Given the description of an element on the screen output the (x, y) to click on. 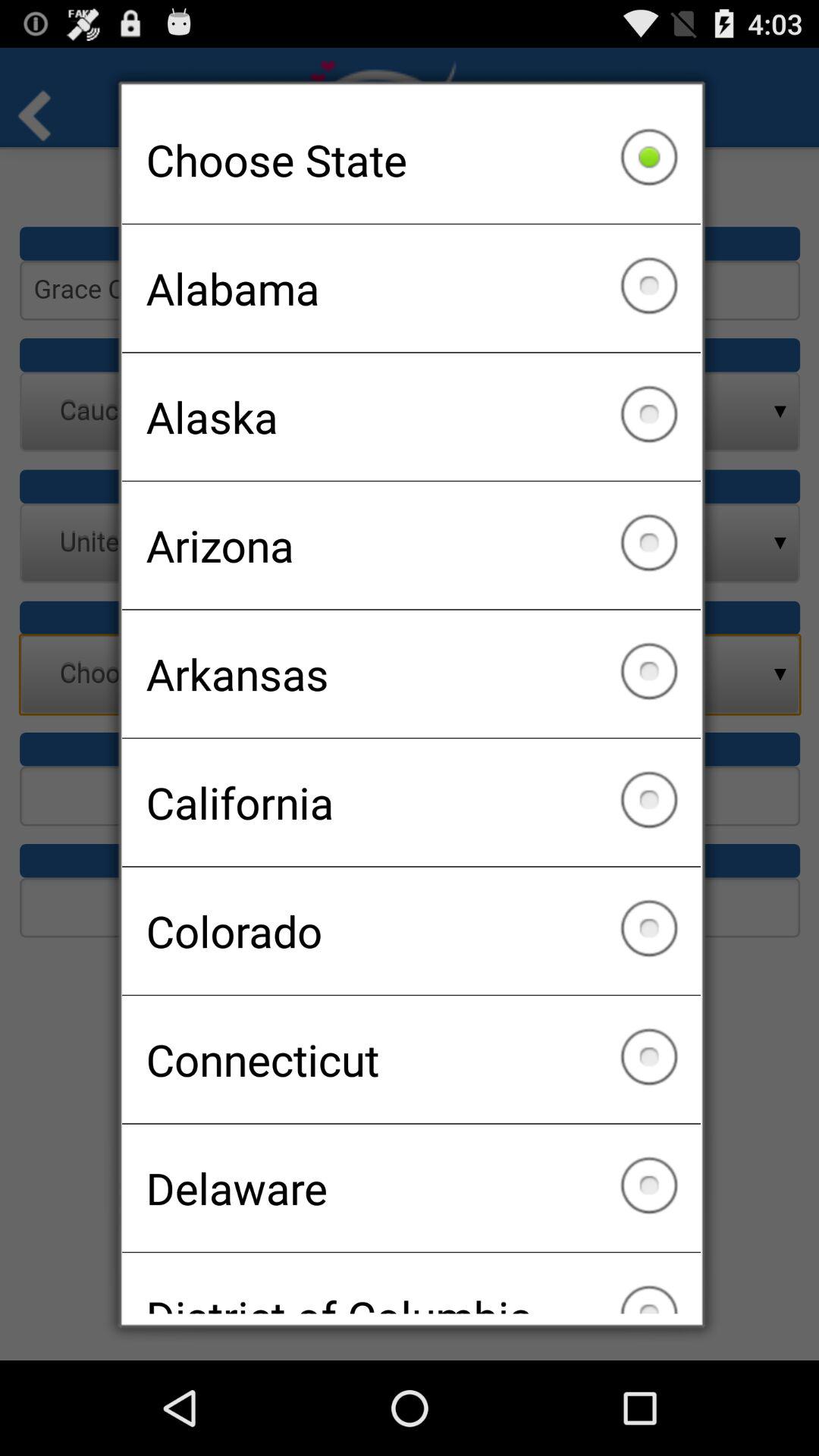
choose item above arizona (411, 416)
